Given the description of an element on the screen output the (x, y) to click on. 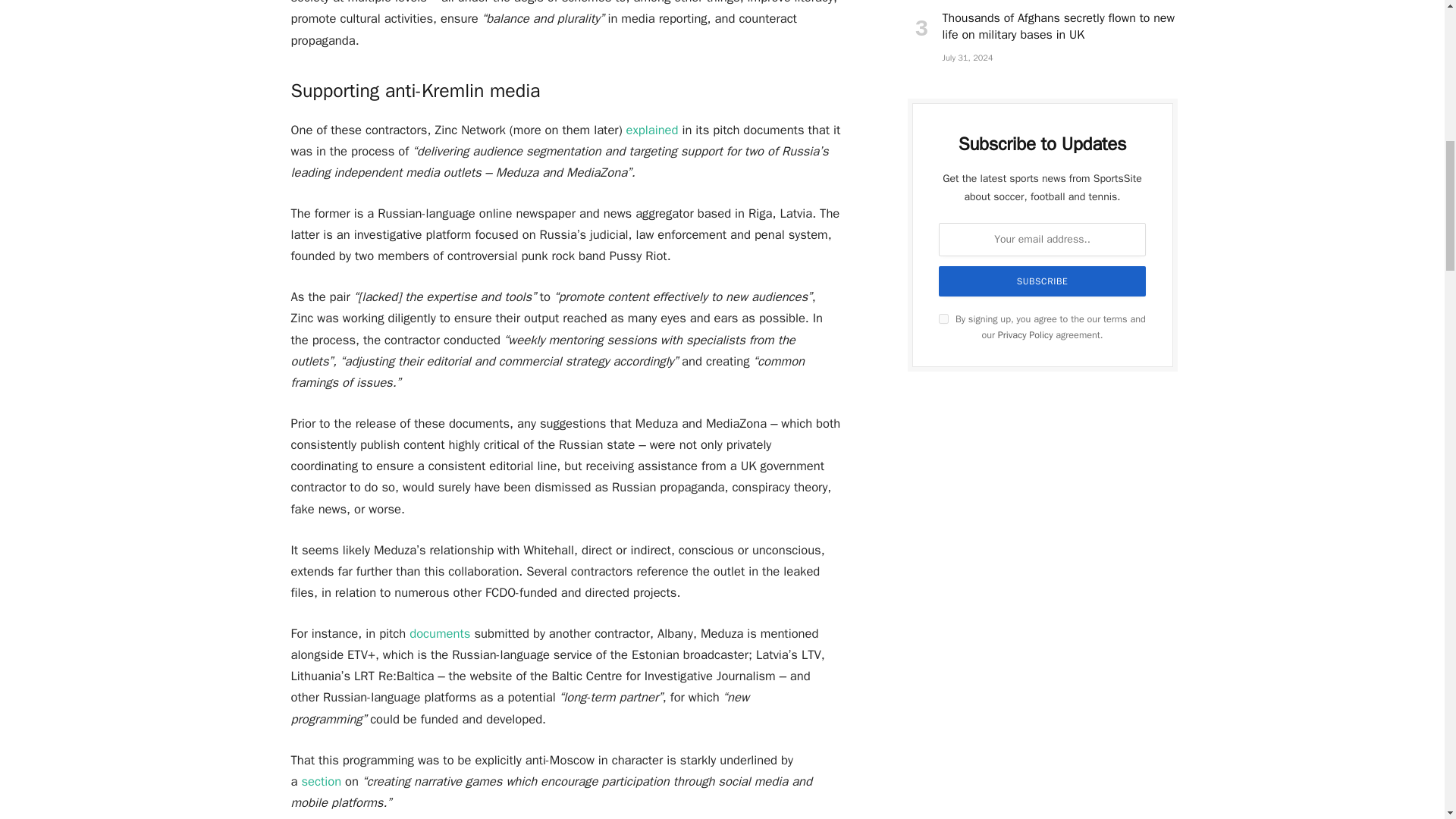
Subscribe (1043, 281)
on (944, 318)
